Given the description of an element on the screen output the (x, y) to click on. 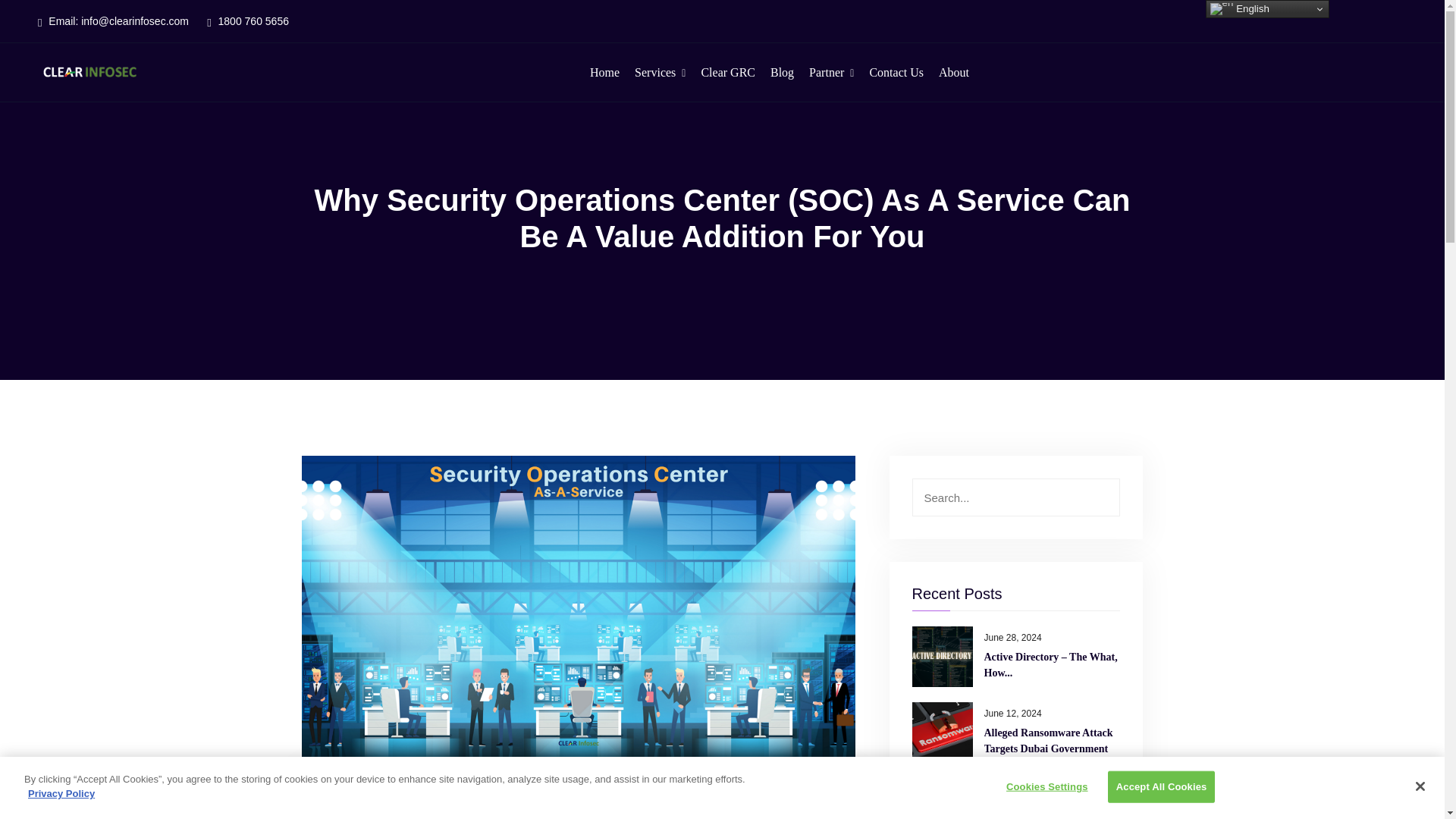
Home (604, 72)
Services (659, 72)
About (954, 72)
Services (659, 72)
Clear GRC (727, 72)
Partner (831, 72)
Home (604, 72)
Blog (781, 72)
Contact Us (896, 72)
Arun Sathiyamoorthi (384, 800)
